Given the description of an element on the screen output the (x, y) to click on. 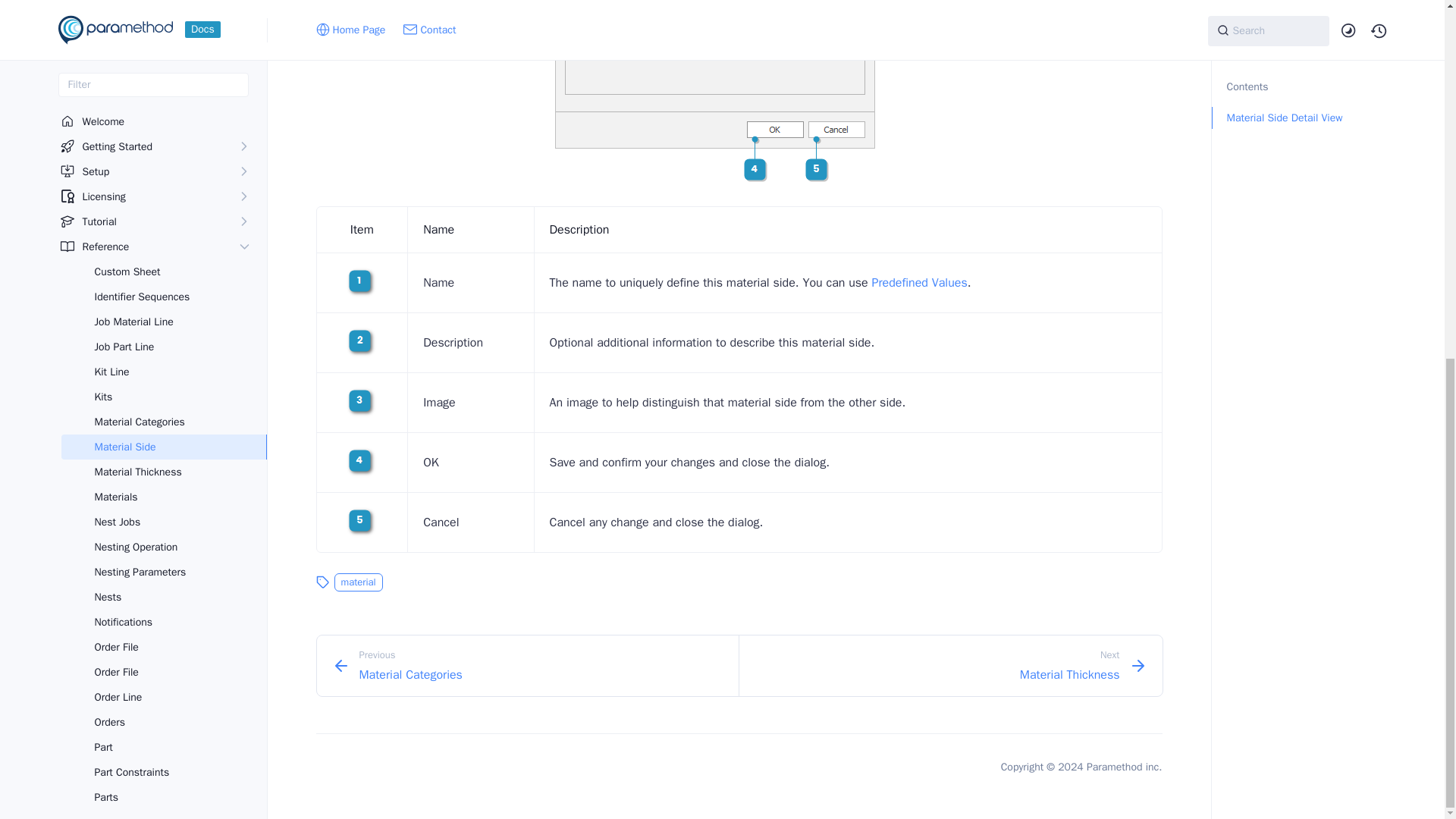
Material Side Detail View (738, 90)
